Given the description of an element on the screen output the (x, y) to click on. 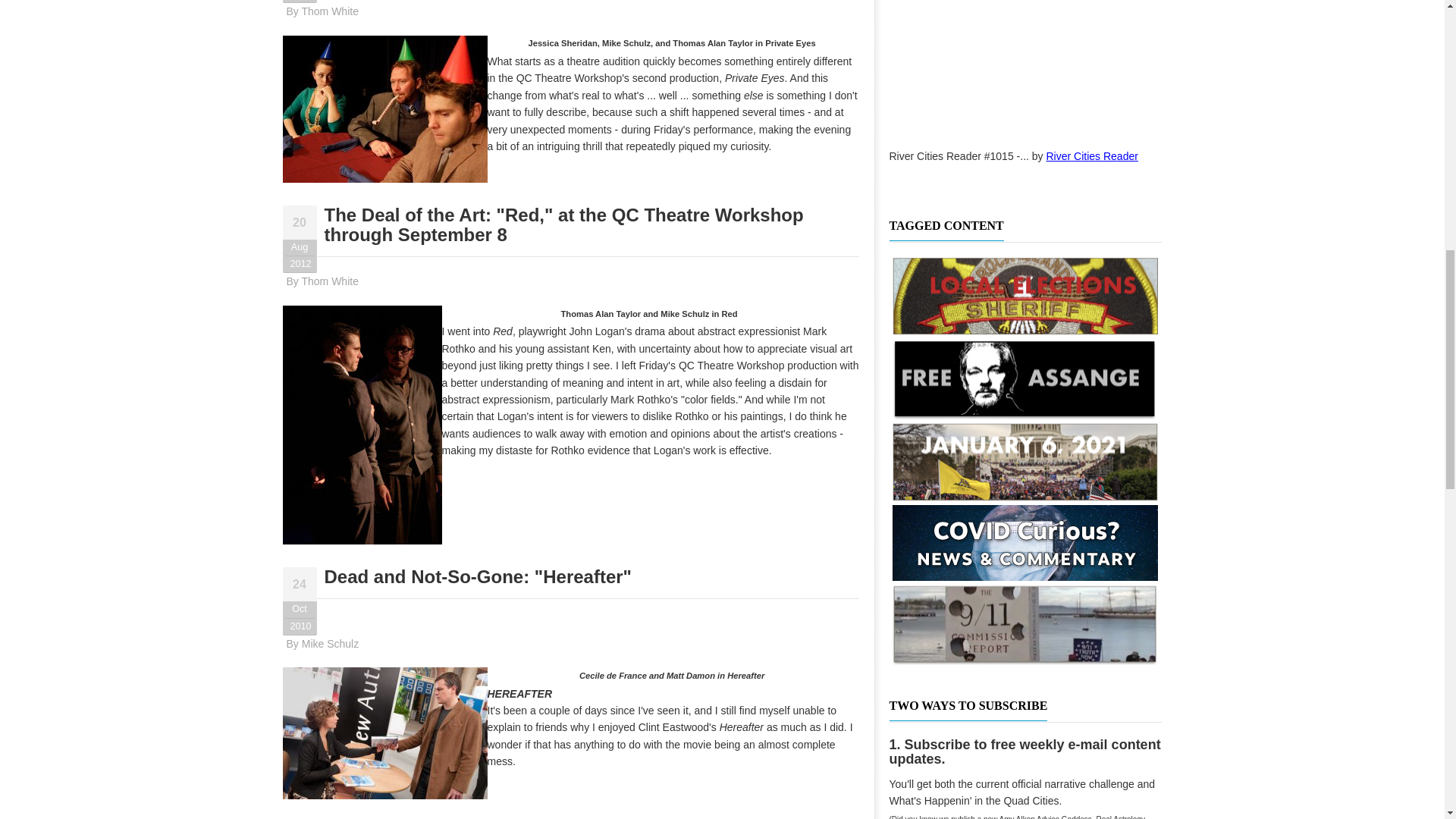
Cecile de France and Matt Damon in Hereafter (384, 733)
Thom White (329, 10)
